Given the description of an element on the screen output the (x, y) to click on. 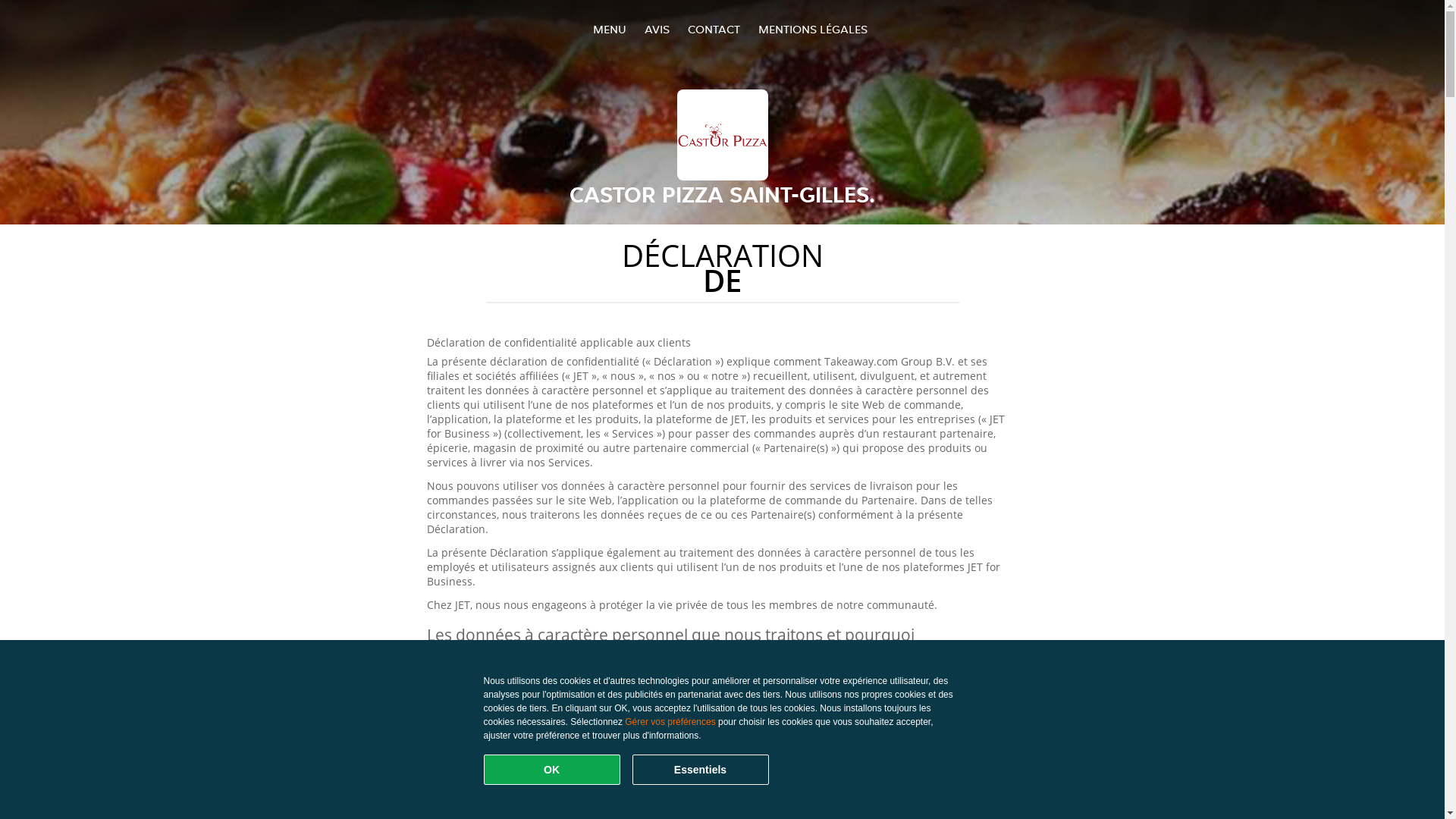
CONTACT Element type: text (713, 29)
OK Element type: text (551, 769)
MENU Element type: text (609, 29)
AVIS Element type: text (656, 29)
Essentiels Element type: text (700, 769)
